Given the description of an element on the screen output the (x, y) to click on. 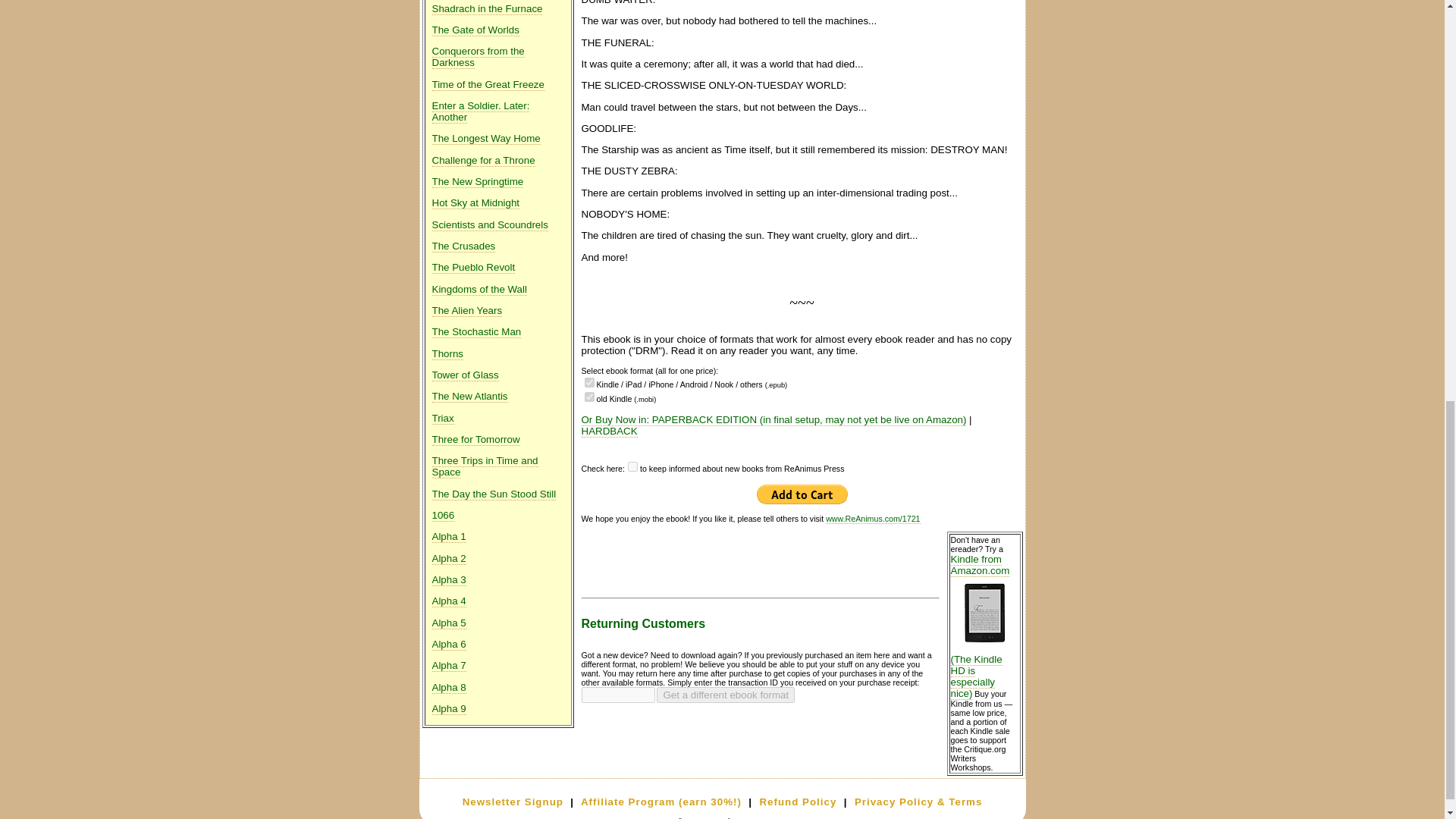
Enter a Soldier. Later: Another (480, 111)
Scientists and Scoundrels (490, 224)
Conquerors from the Darkness (478, 56)
on (588, 397)
The Stochastic Man (476, 331)
Thorns (447, 354)
Hot Sky at Midnight (475, 203)
The Crusades (464, 246)
Kingdoms of the Wall (479, 289)
The Pueblo Revolt (473, 267)
Challenge for a Throne (483, 160)
The Longest Way Home (486, 138)
on (588, 382)
yes (632, 466)
The Gate of Worlds (475, 30)
